Given the description of an element on the screen output the (x, y) to click on. 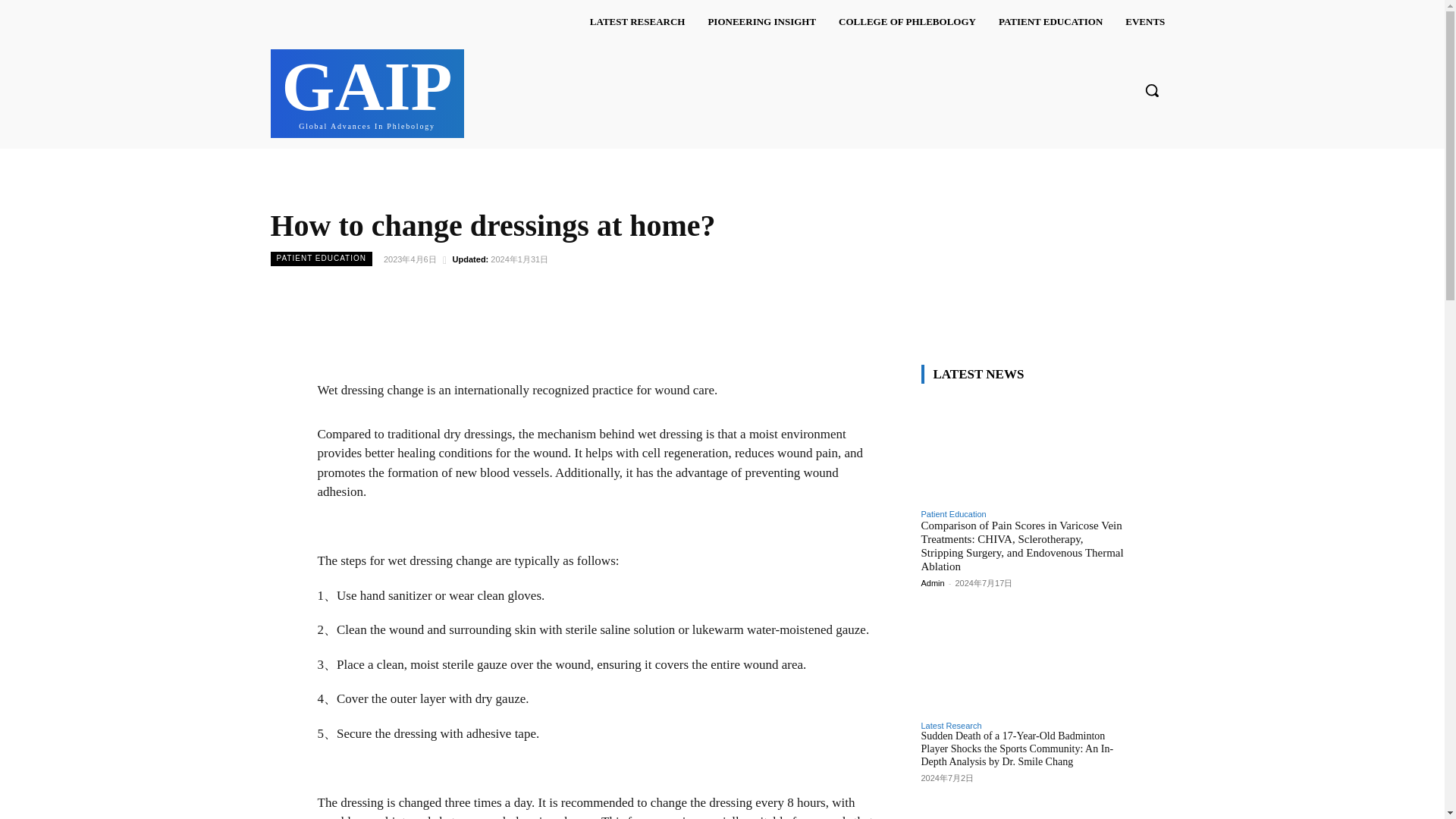
PATIENT EDUCATION (1050, 21)
COLLEGE OF PHLEBOLOGY (906, 21)
LATEST RESEARCH (367, 91)
EVENTS (637, 21)
PIONEERING INSIGHT (1144, 21)
PATIENT EDUCATION (761, 21)
